Given the description of an element on the screen output the (x, y) to click on. 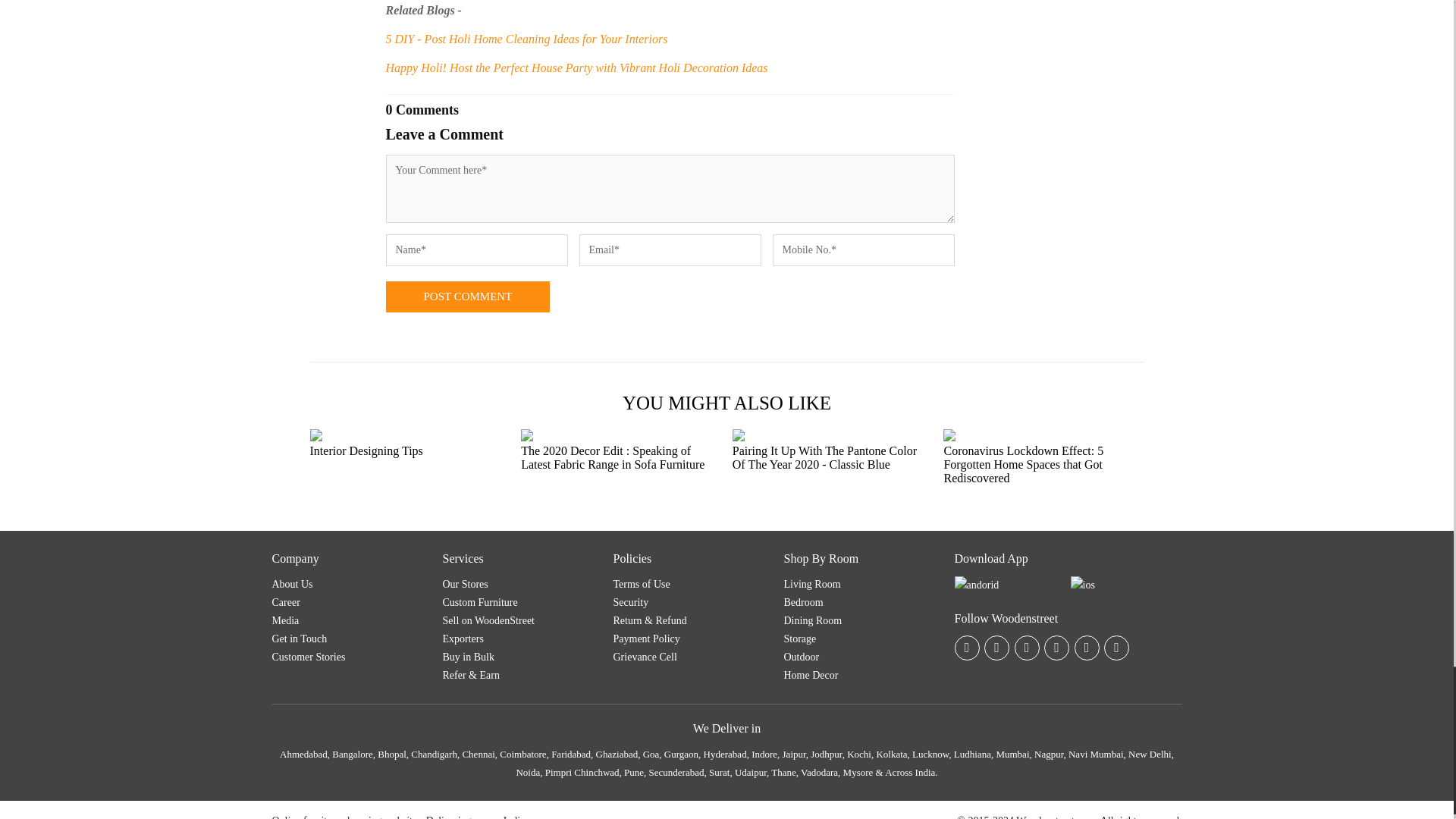
linkedin (1116, 647)
Pinterest (996, 647)
Twitter (1086, 647)
Facebook (965, 647)
You Tube (1026, 647)
Instagram (1055, 647)
